Given the description of an element on the screen output the (x, y) to click on. 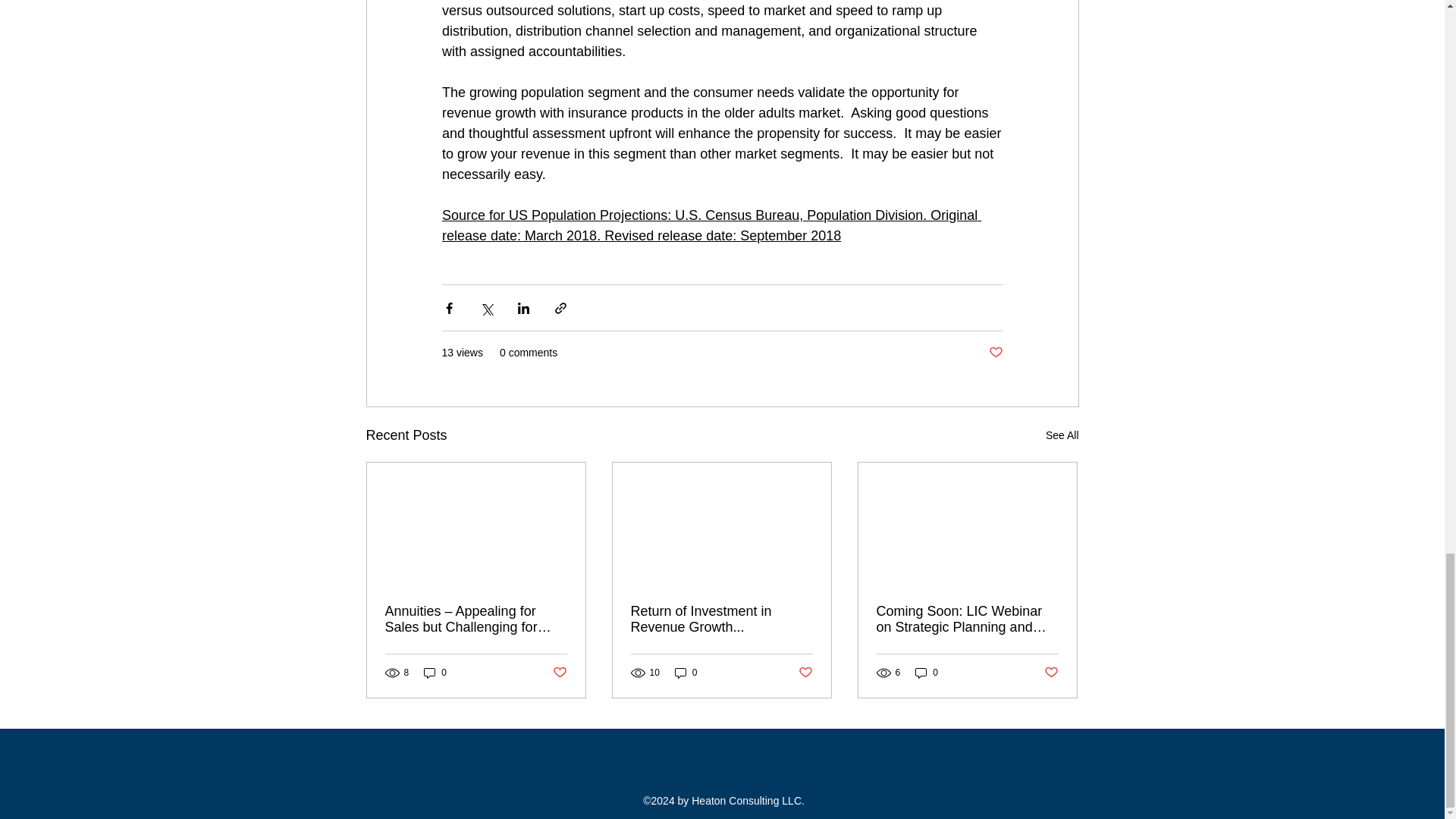
Post not marked as liked (558, 672)
0 (926, 672)
Post not marked as liked (804, 672)
Post not marked as liked (1050, 672)
Return of Investment in Revenue Growth... (721, 619)
0 (685, 672)
See All (1061, 435)
0 (435, 672)
Post not marked as liked (995, 352)
